Given the description of an element on the screen output the (x, y) to click on. 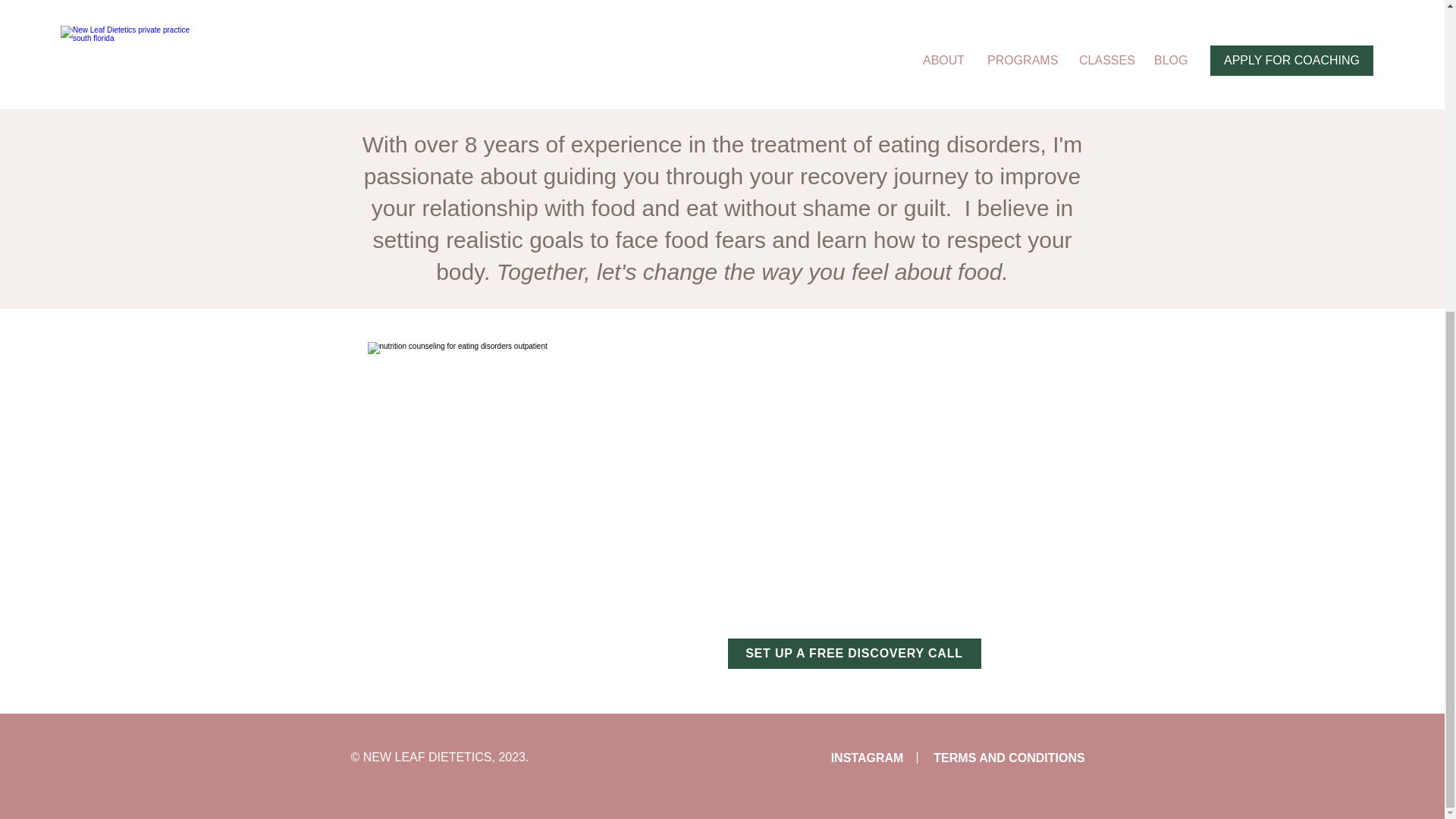
SET UP A FREE DISCOVERY CALL (854, 653)
TERMS AND CONDITIONS (1008, 757)
INSTAGRAM (867, 757)
